Given the description of an element on the screen output the (x, y) to click on. 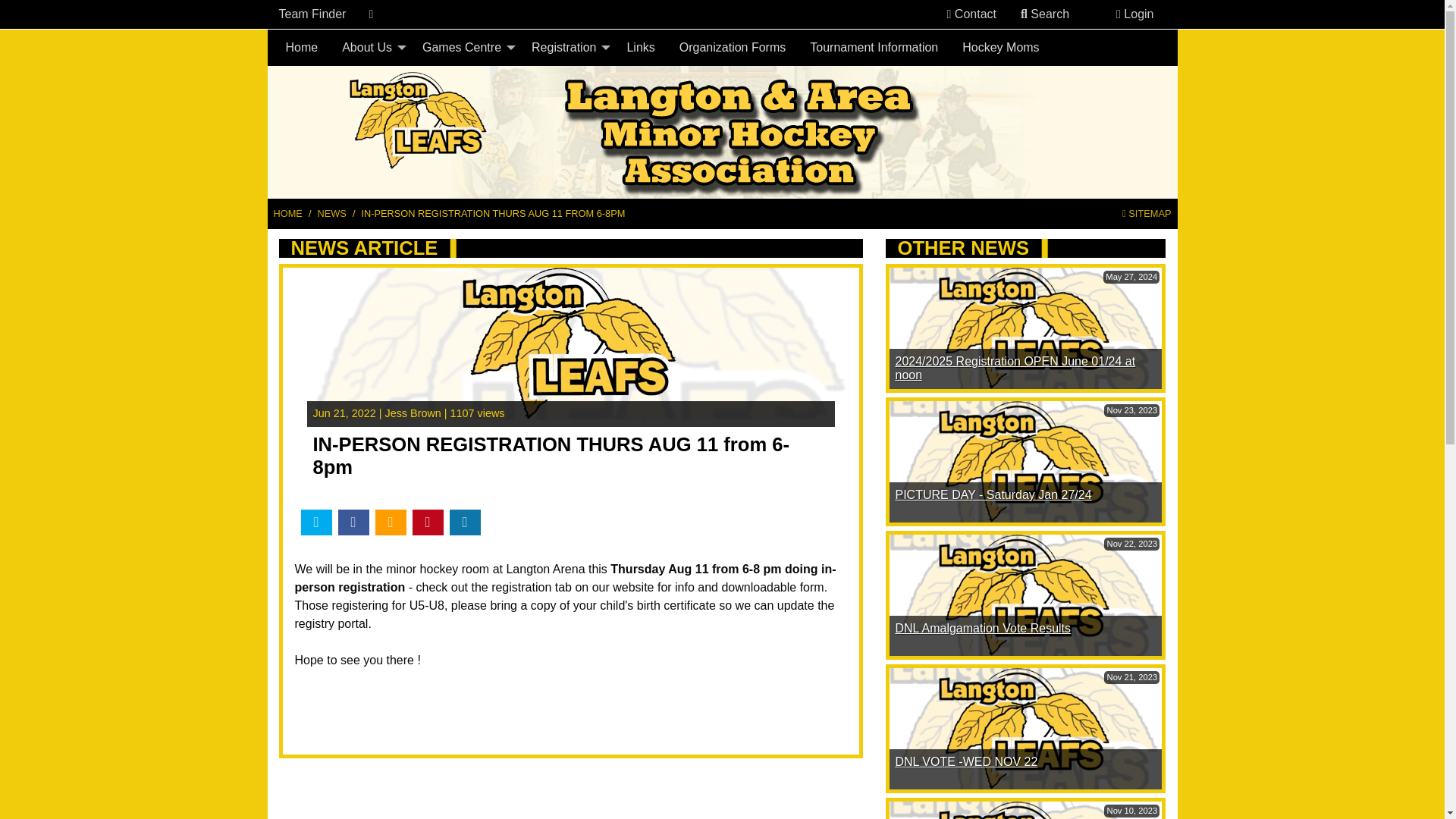
Games Centre (464, 47)
Team Finder (312, 13)
Go to the sitemap page for this website (1146, 212)
 SITEMAP (1146, 212)
Links (640, 47)
Home (301, 47)
 Login (1134, 14)
 Search (1045, 14)
NEWS (331, 212)
Registration (566, 47)
